Given the description of an element on the screen output the (x, y) to click on. 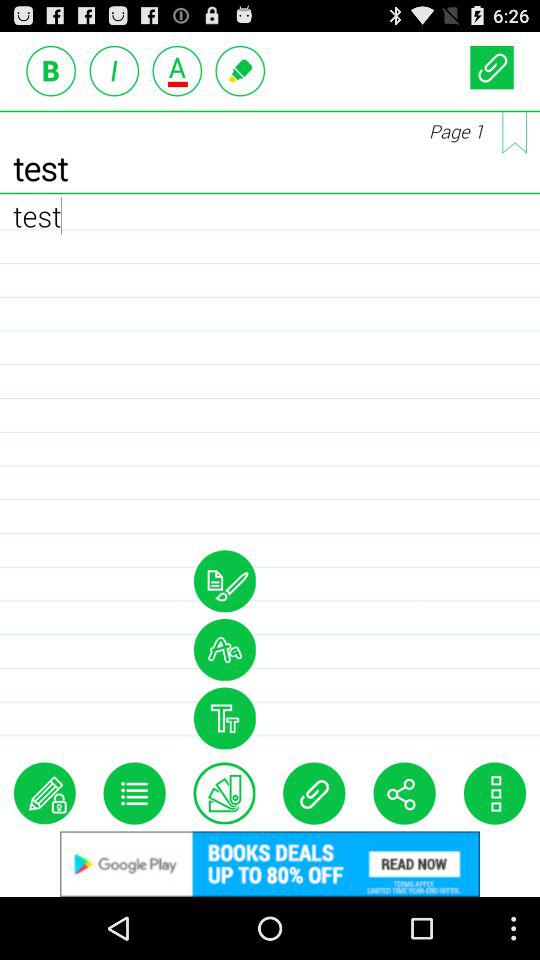
to write (240, 70)
